Given the description of an element on the screen output the (x, y) to click on. 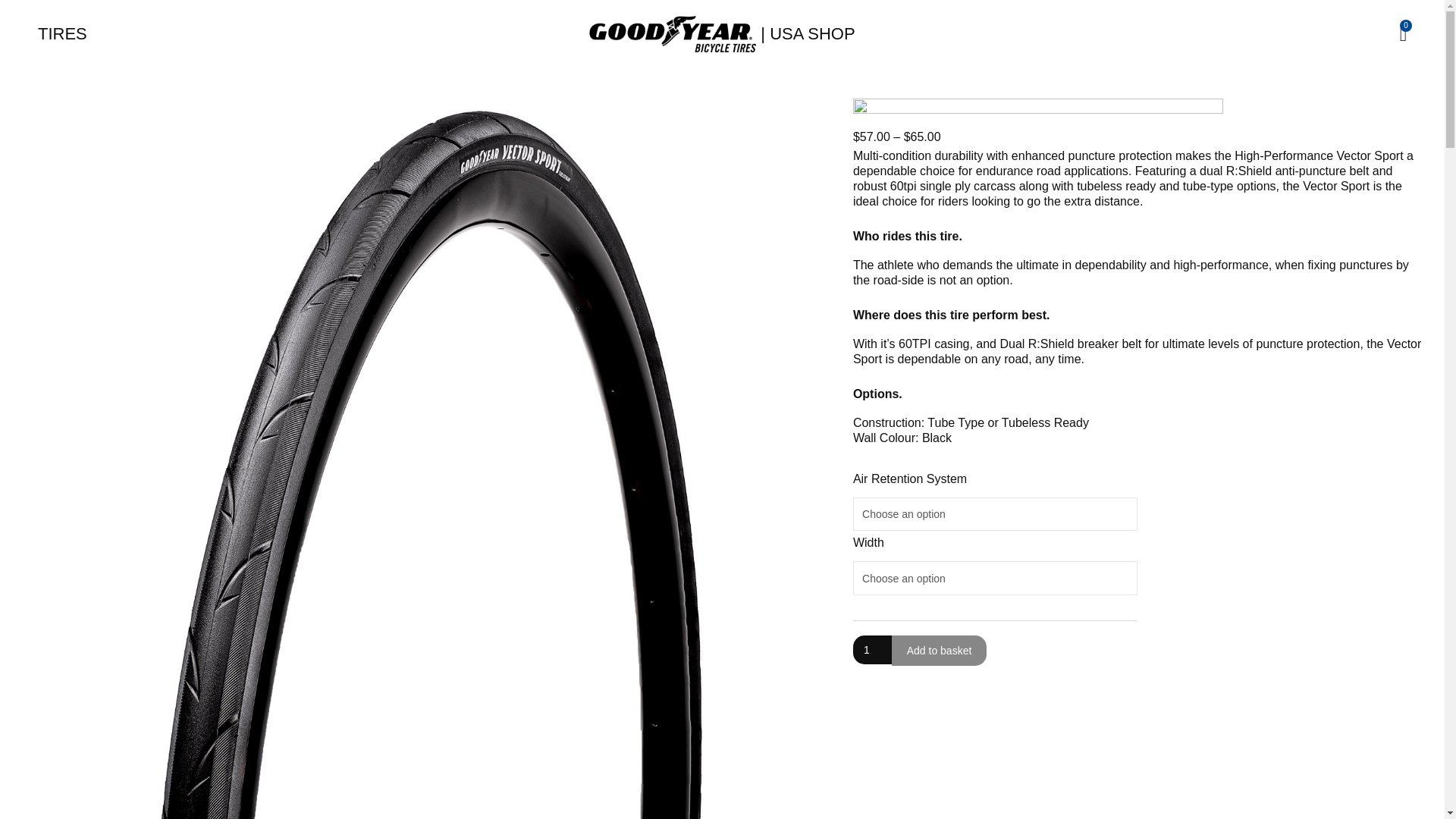
TIRES (60, 34)
1 (872, 649)
TIRES (60, 34)
